Given the description of an element on the screen output the (x, y) to click on. 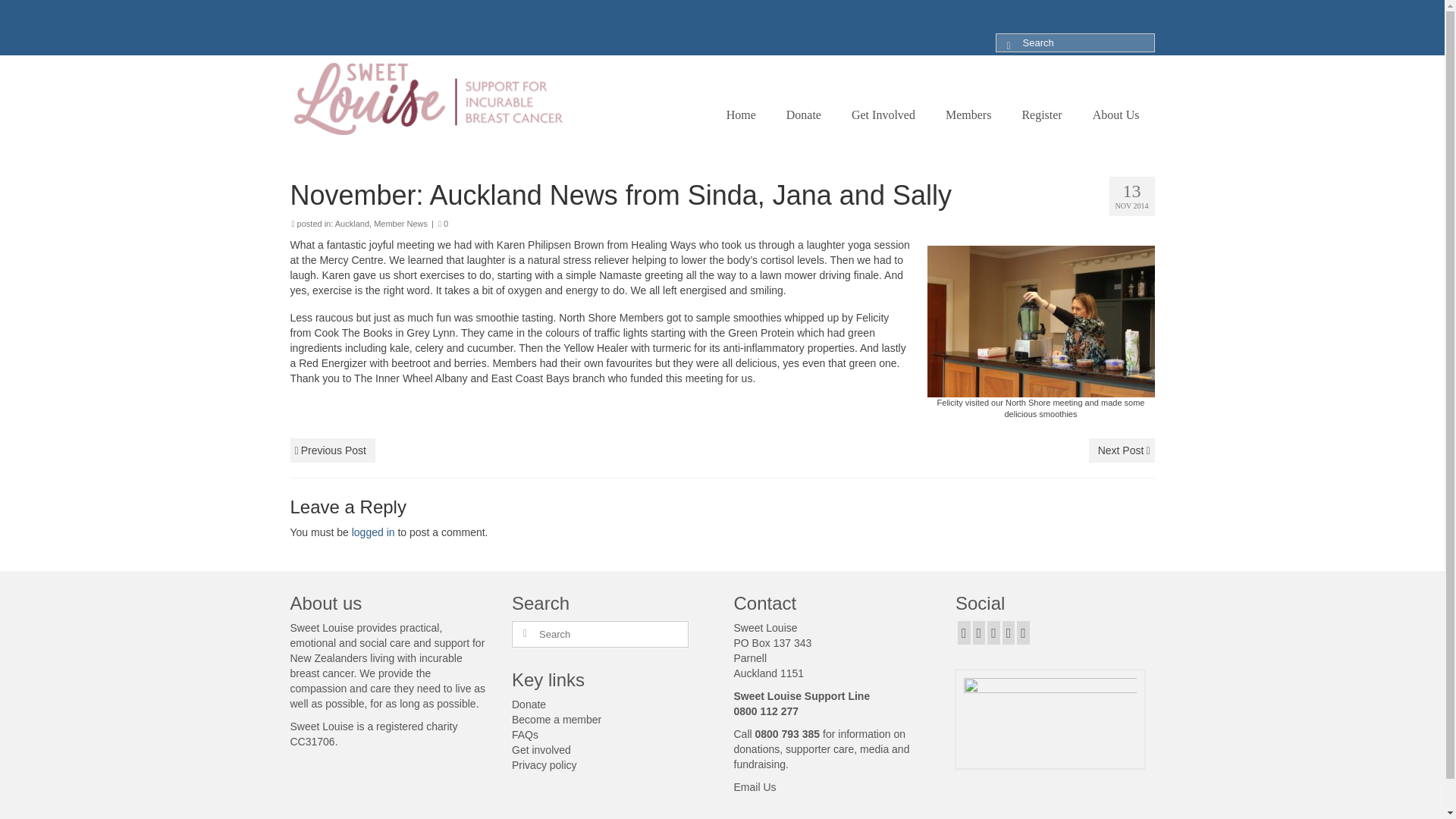
Get Involved (882, 114)
LinkedIn (1022, 632)
Register (1041, 114)
Facebook (964, 632)
GIVE MONTHLY (773, 21)
Sweet Louise (428, 99)
Home (741, 114)
Instagram (993, 632)
Members (968, 114)
Donate (803, 114)
Twitter (978, 632)
DONATE (755, 6)
YouTube (1008, 632)
